Given the description of an element on the screen output the (x, y) to click on. 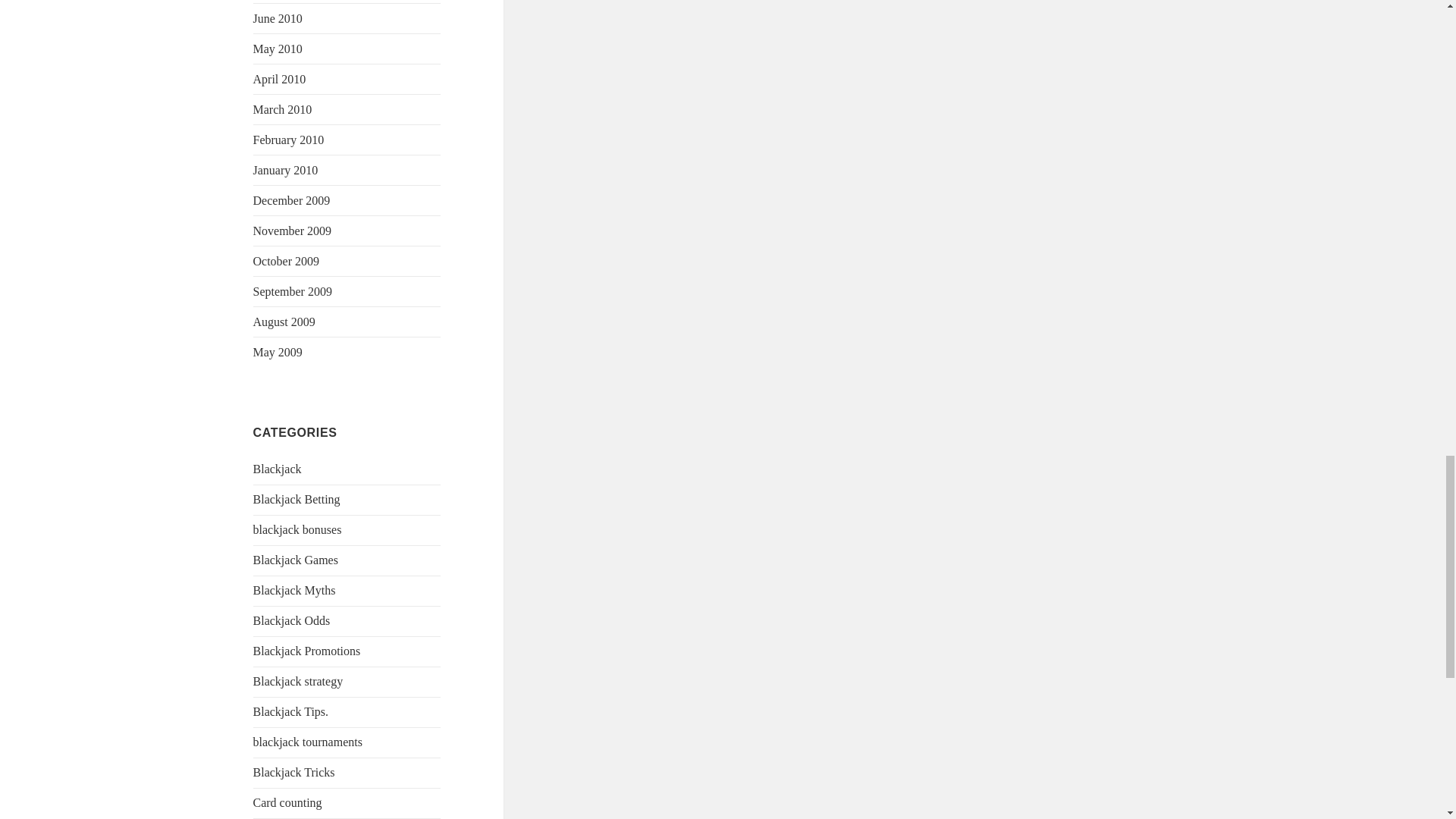
June 2010 (277, 18)
